Given the description of an element on the screen output the (x, y) to click on. 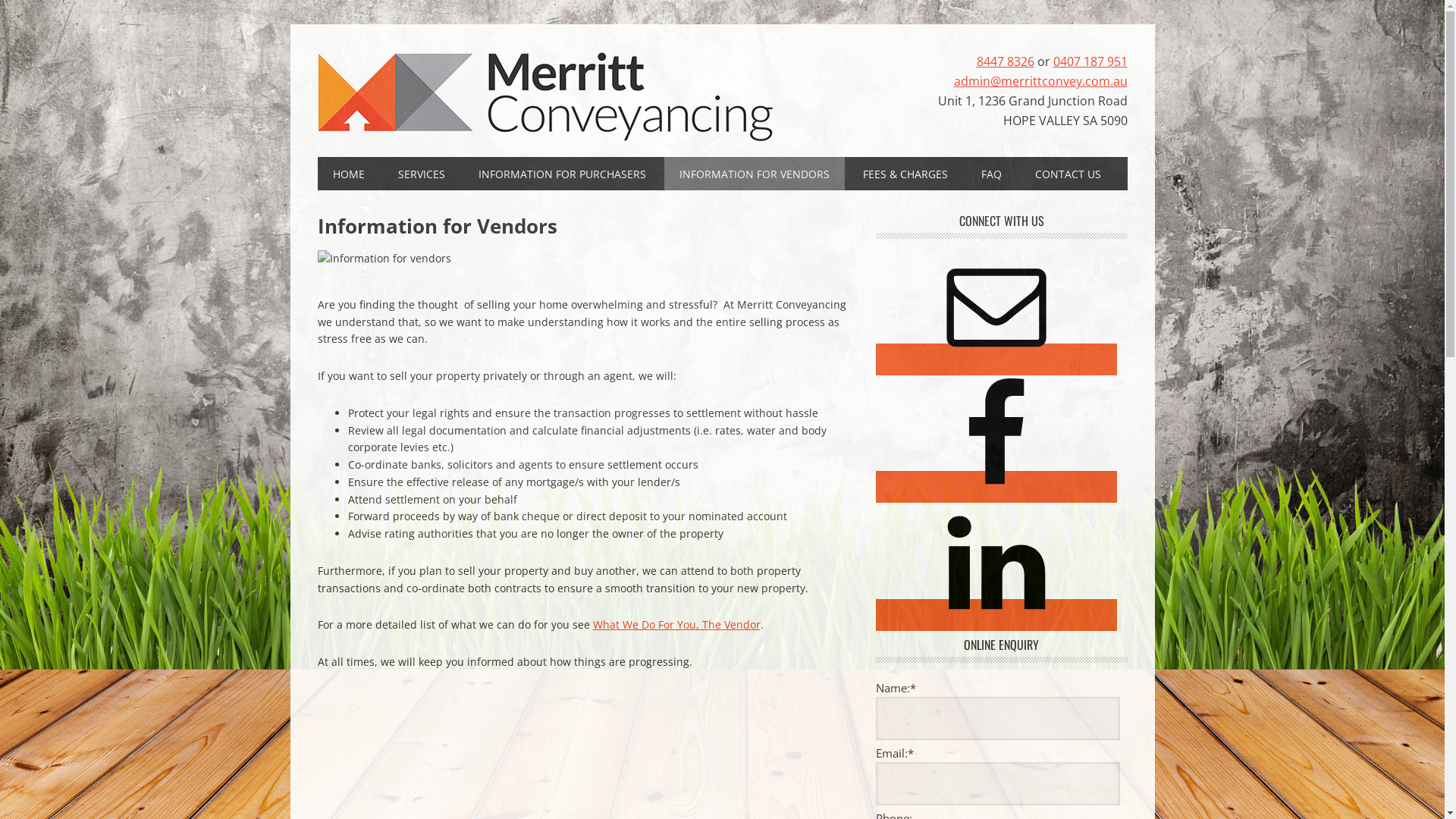
Skip to primary navigation Element type: text (0, 0)
What We Do For You, The Vendor Element type: text (676, 624)
SERVICES Element type: text (420, 173)
INFORMATION FOR PURCHASERS Element type: text (561, 173)
INFORMATION FOR VENDORS Element type: text (754, 173)
FEES & CHARGES Element type: text (905, 173)
HOME Element type: text (347, 173)
CONTACT US Element type: text (1067, 173)
Merritt Conveyancing Element type: hover (543, 97)
8447 8326 Element type: text (1005, 61)
FAQ Element type: text (991, 173)
admin@merrittconvey.com.au Element type: text (1040, 80)
0407 187 951 Element type: text (1089, 61)
